Given the description of an element on the screen output the (x, y) to click on. 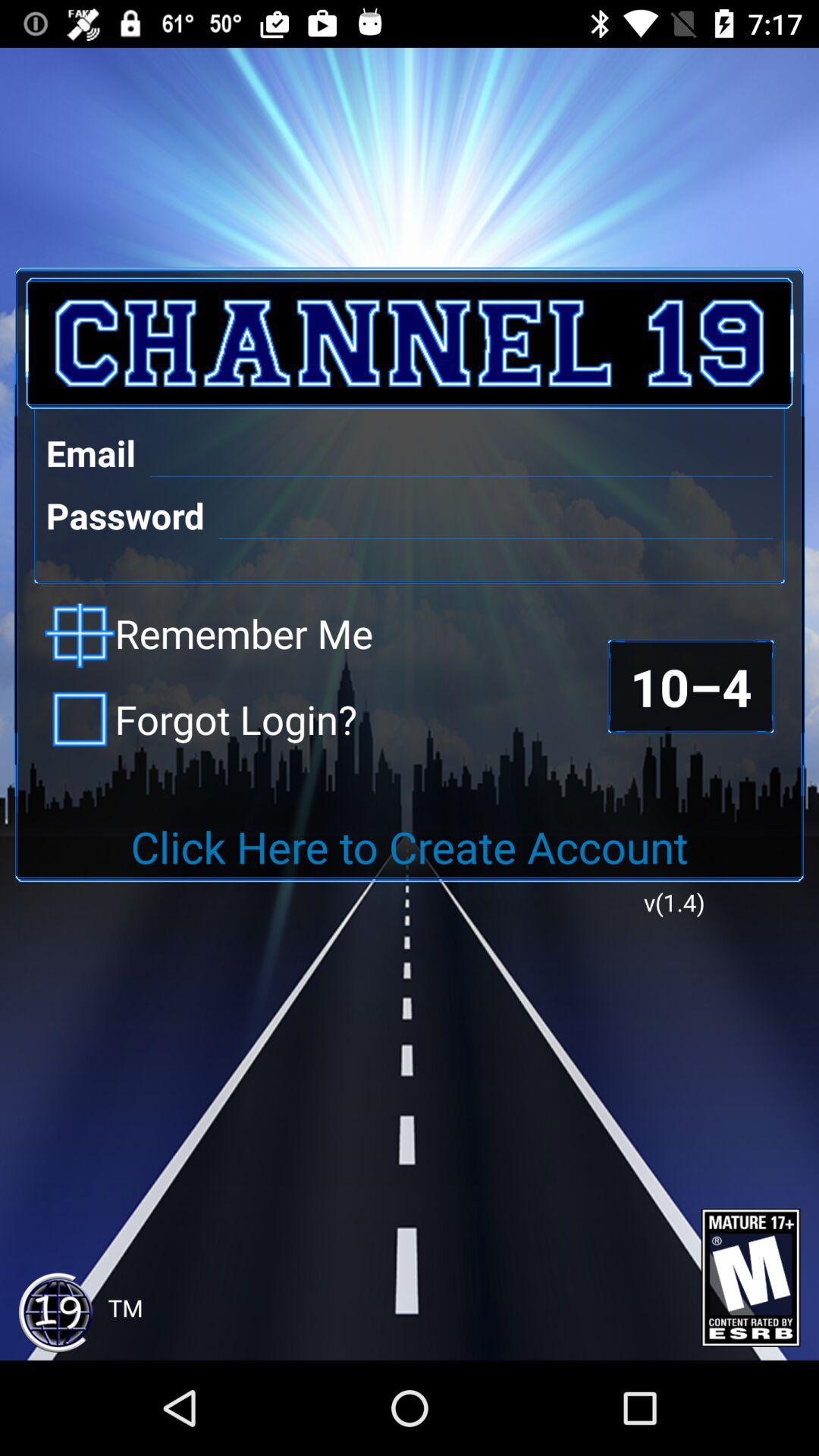
press item above click here to item (690, 686)
